Given the description of an element on the screen output the (x, y) to click on. 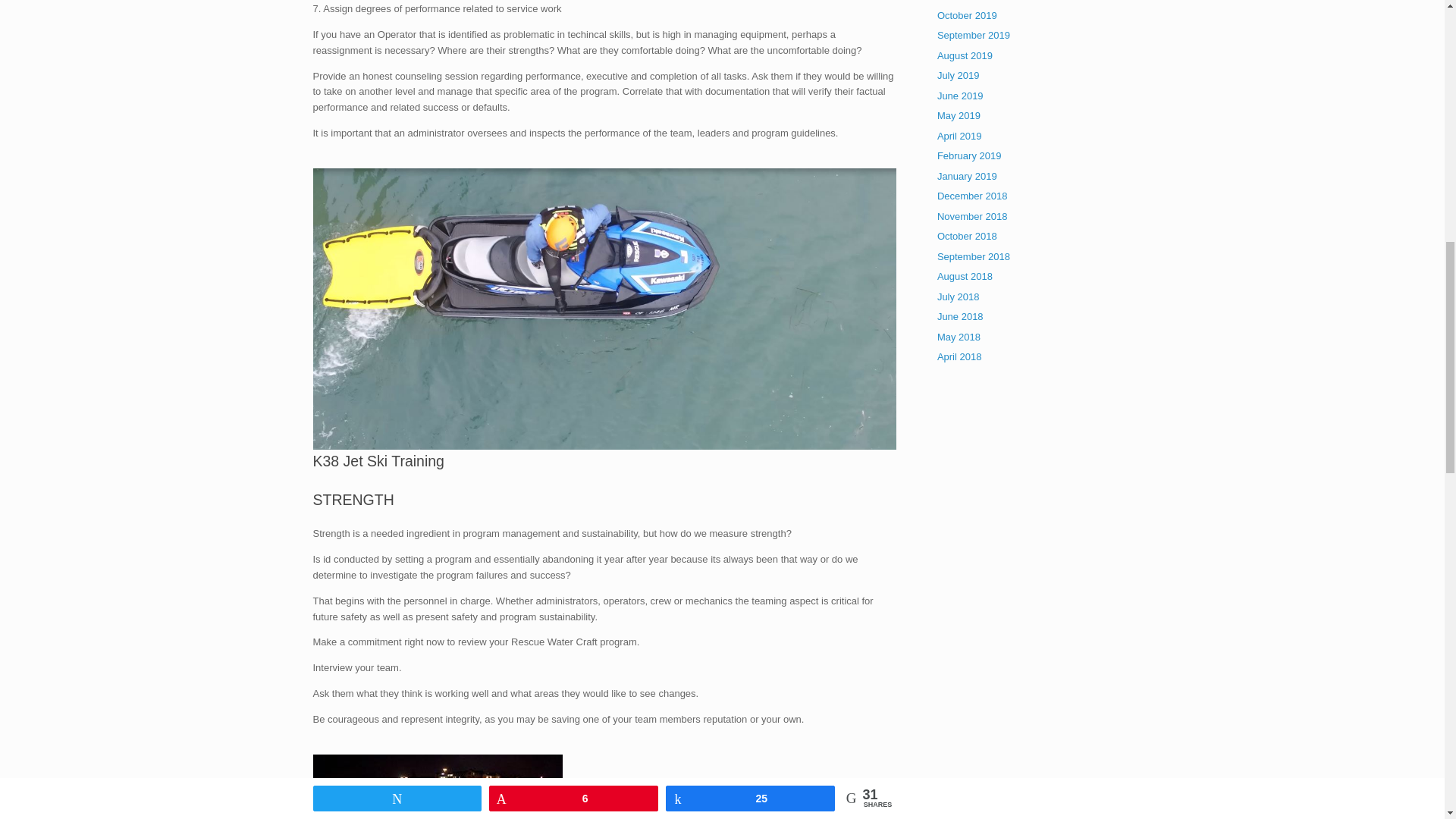
Care About Your Team (437, 786)
